Given the description of an element on the screen output the (x, y) to click on. 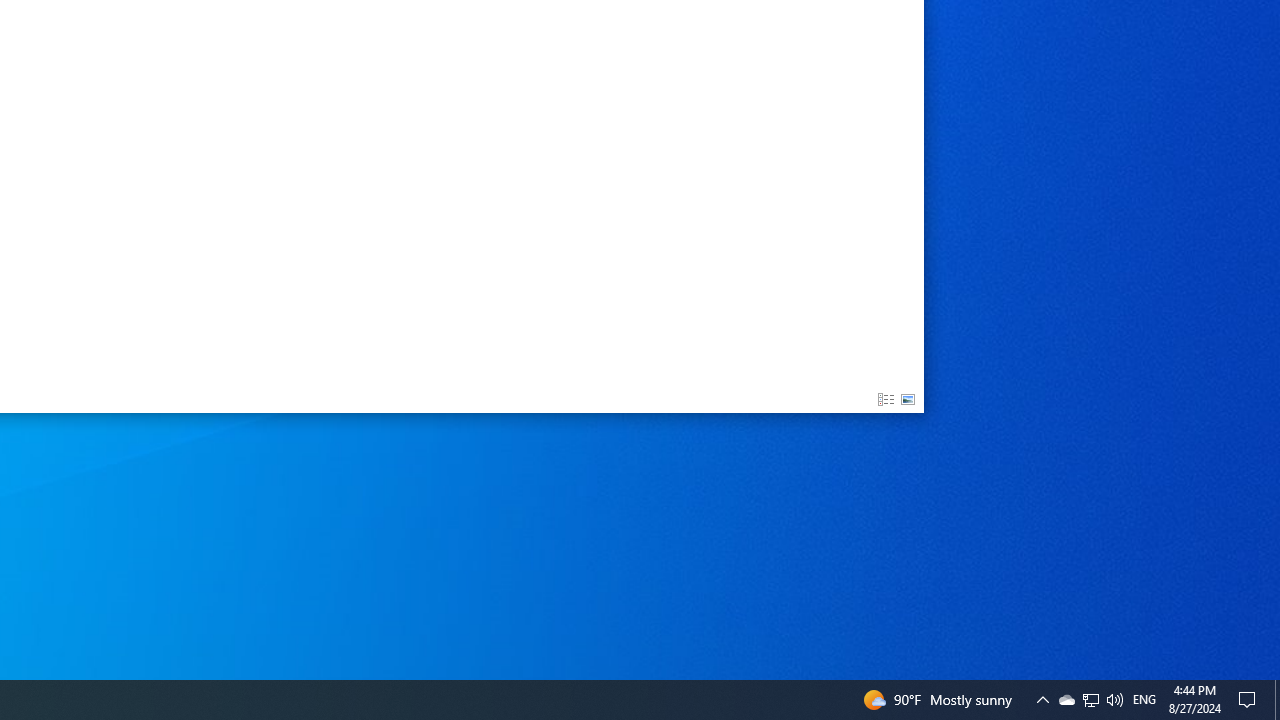
Tray Input Indicator - English (United States) (1144, 699)
